Given the description of an element on the screen output the (x, y) to click on. 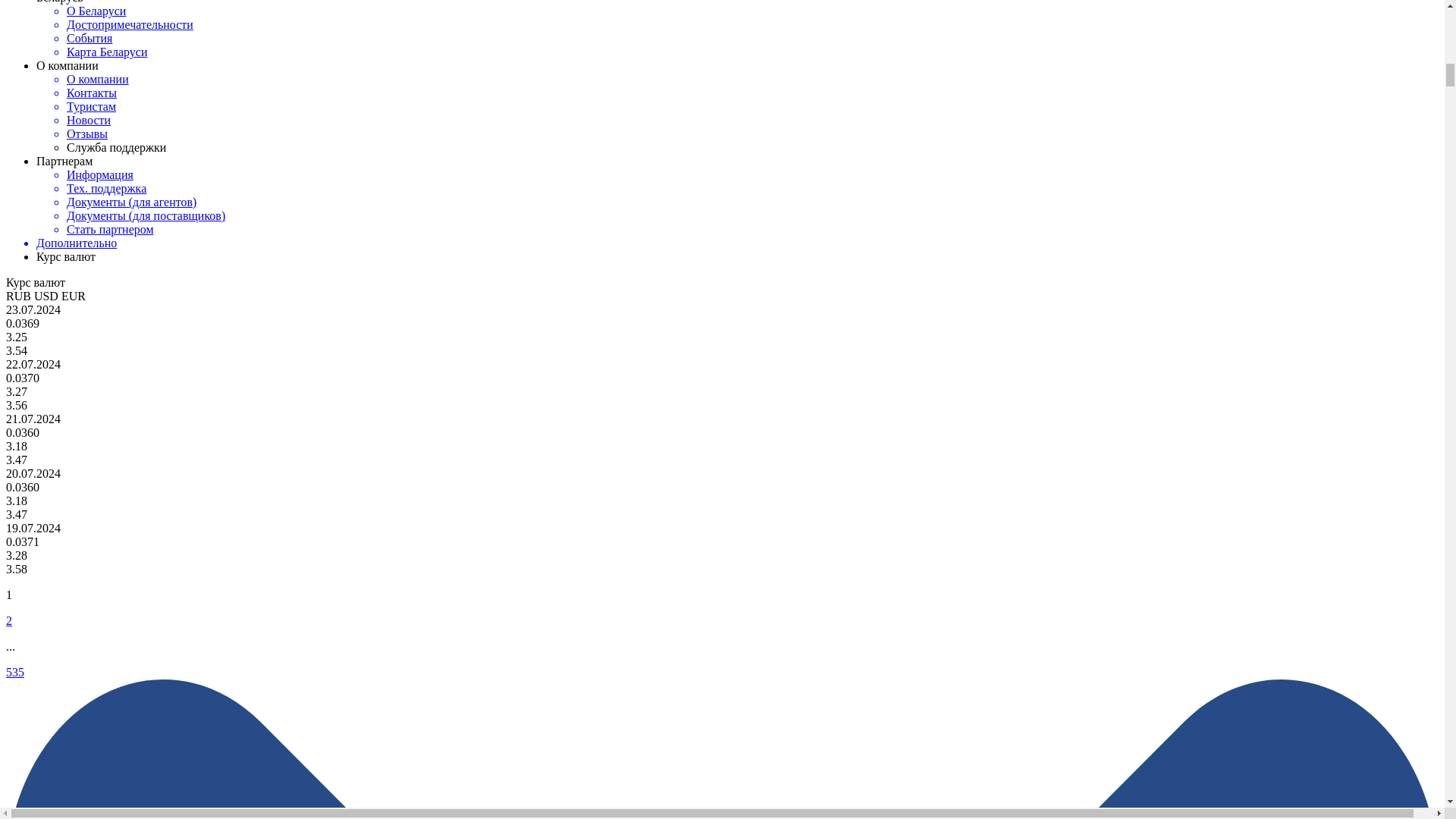
535 (14, 671)
